Given the description of an element on the screen output the (x, y) to click on. 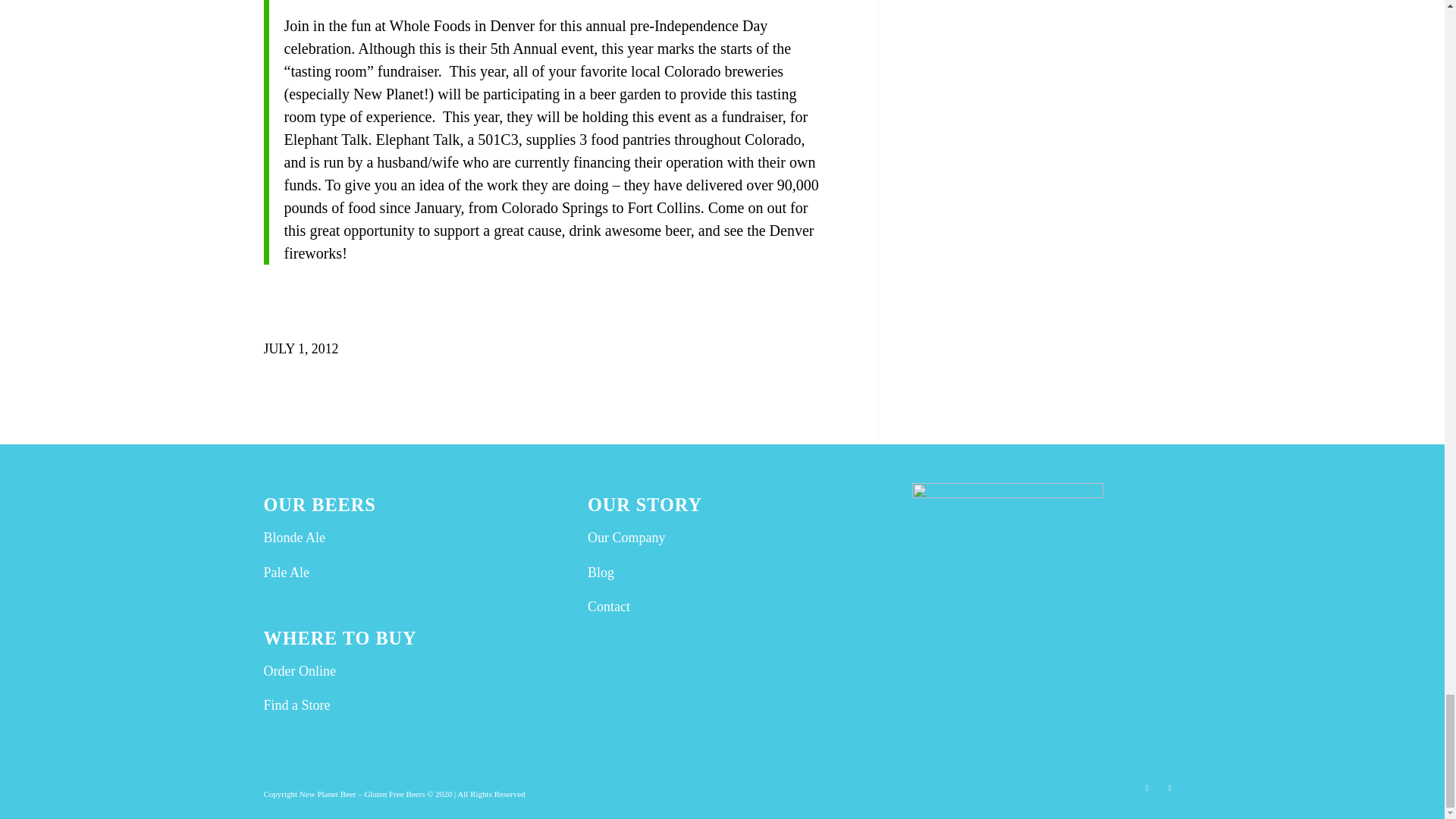
Instagram (1146, 787)
Facebook (1169, 787)
